Given the description of an element on the screen output the (x, y) to click on. 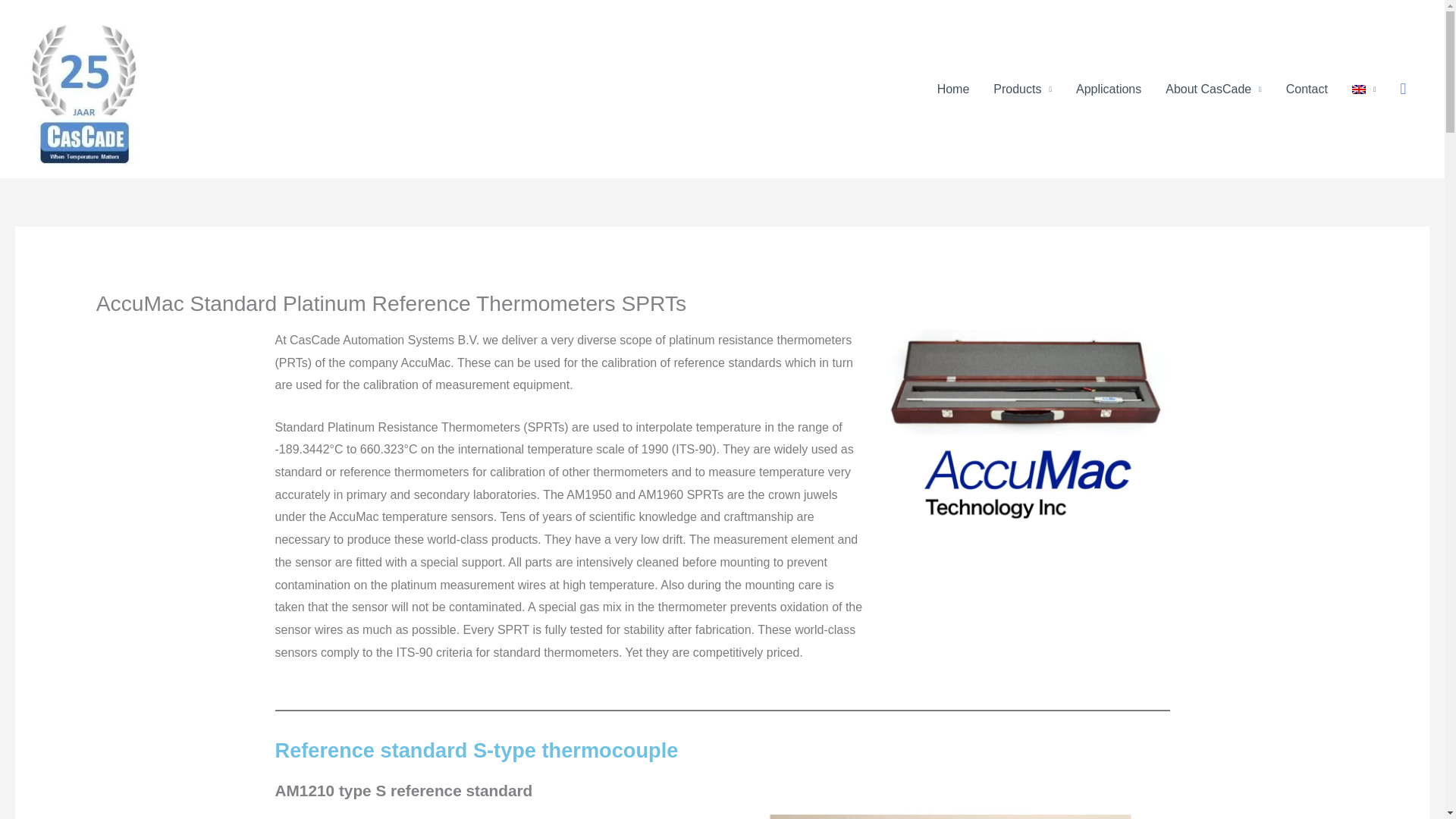
Search (1402, 89)
Applications (1108, 89)
Home (952, 89)
Contact (1306, 89)
About CasCade (1212, 89)
Products (1022, 89)
